Given the description of an element on the screen output the (x, y) to click on. 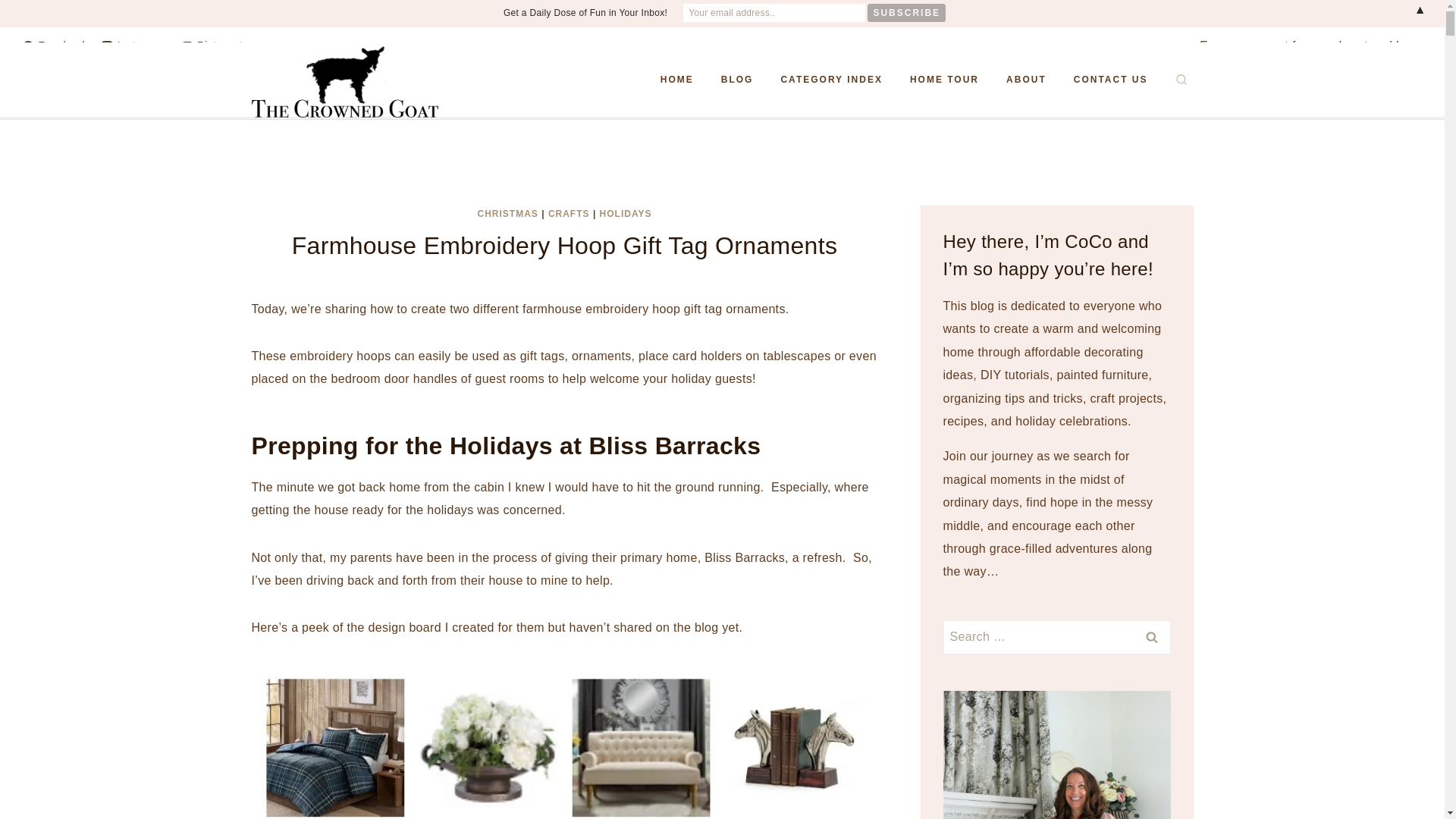
CONTACT US (1110, 79)
CHRISTMAS (507, 213)
Pinterest (212, 46)
BLOG (737, 79)
Search (1151, 636)
Subscribe (905, 13)
CATEGORY INDEX (831, 79)
CRAFTS (568, 213)
HOME (676, 79)
HOLIDAYS (625, 213)
Instagram (134, 46)
Facebook (55, 46)
ABOUT (1025, 79)
Search (1151, 636)
HOME TOUR (944, 79)
